Given the description of an element on the screen output the (x, y) to click on. 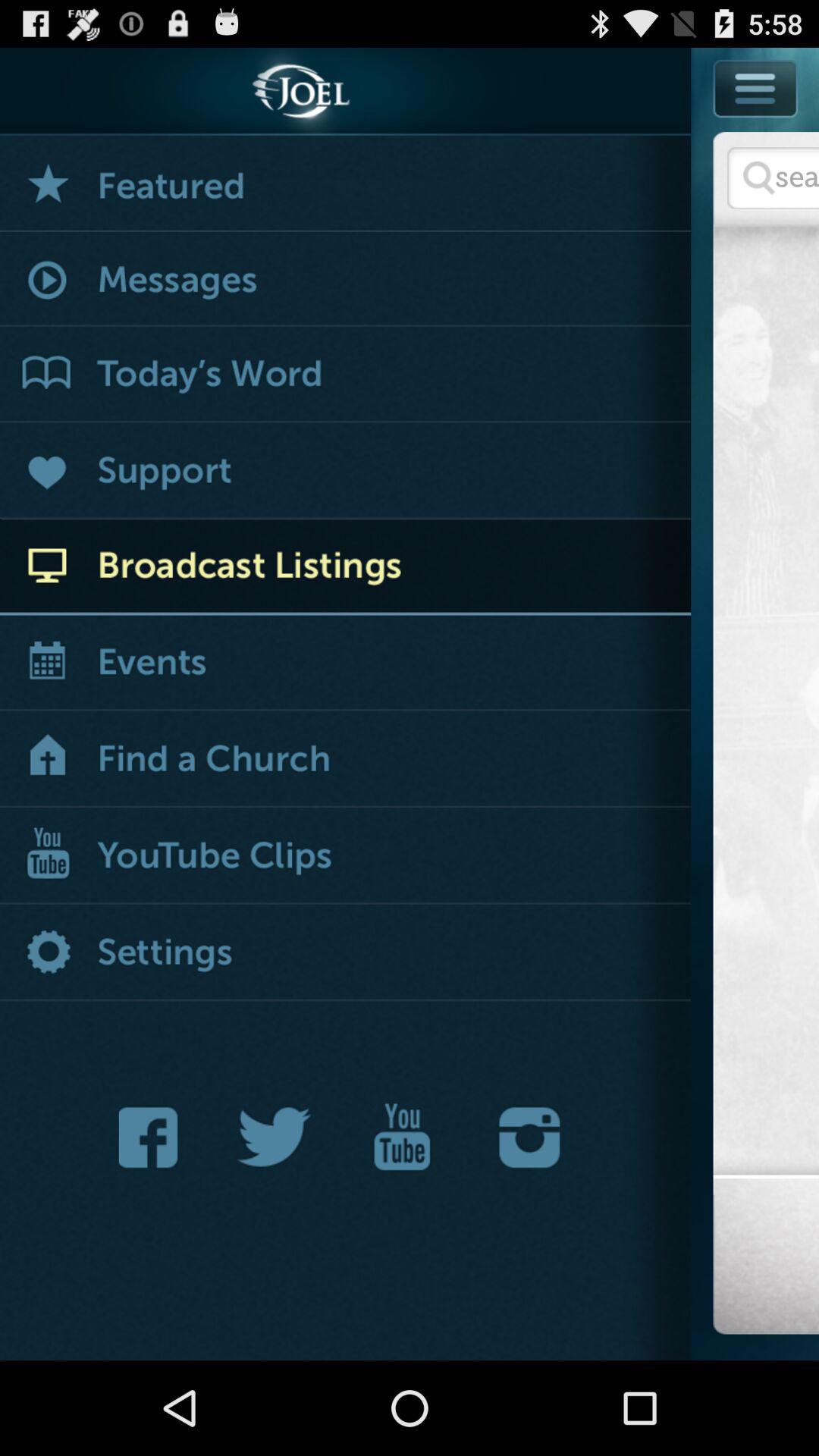
input search information (773, 177)
